Given the description of an element on the screen output the (x, y) to click on. 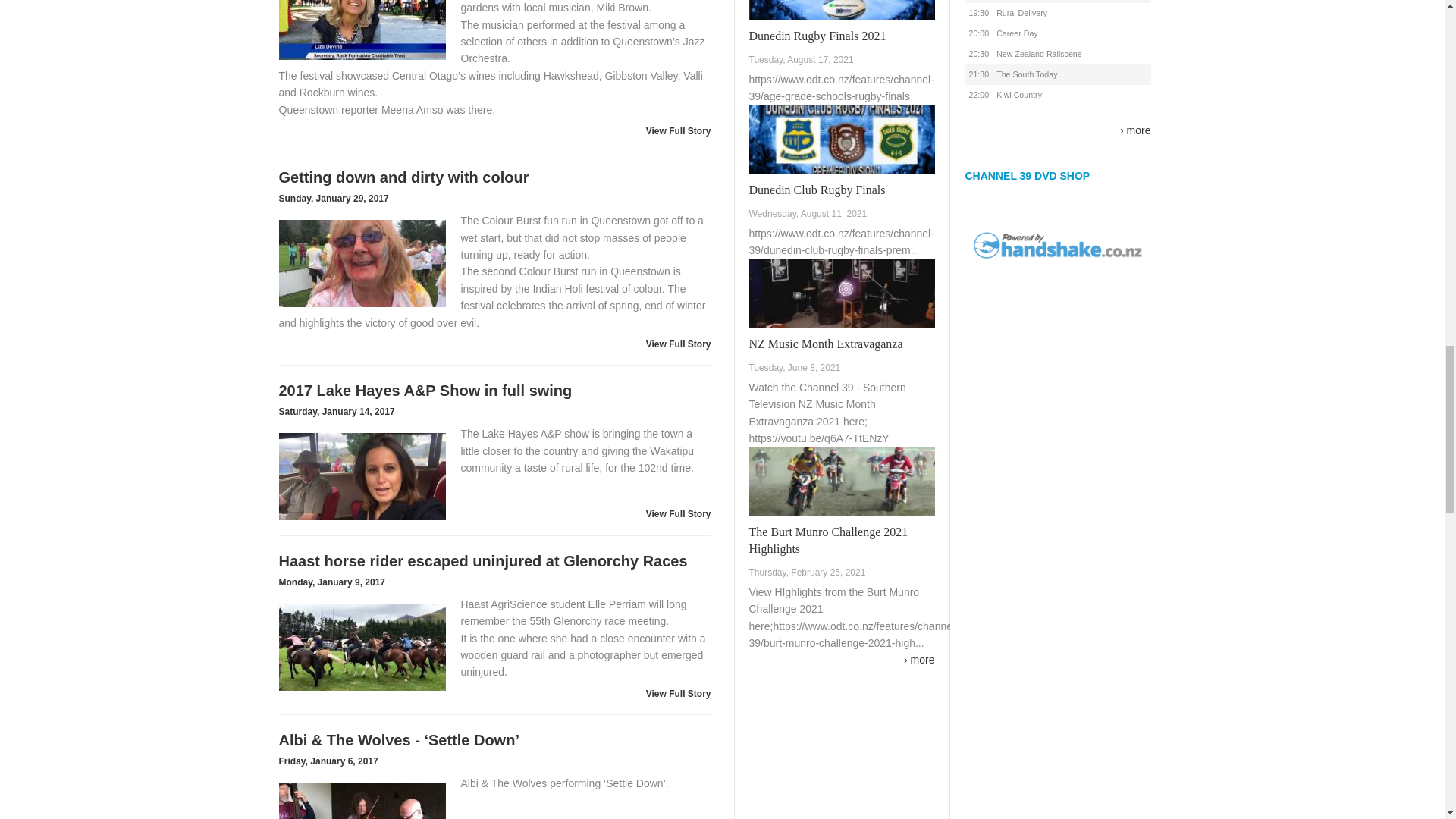
Haast horse rider escaped uninjured at Glenorchy Races (362, 647)
Getting down and dirty with colour (362, 262)
Gibbston Food and Wine Festival all jazzed up (362, 39)
